Given the description of an element on the screen output the (x, y) to click on. 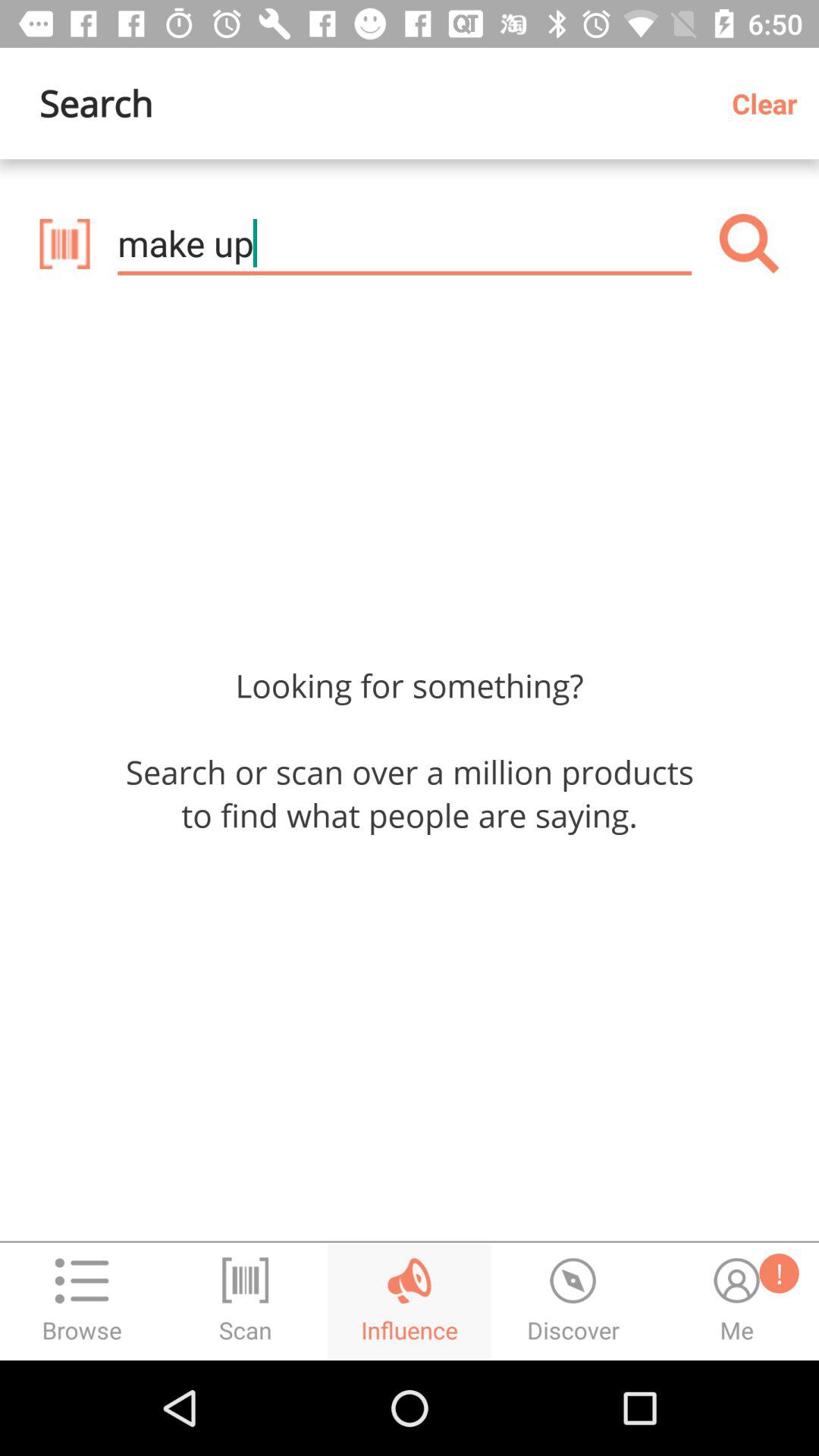
select icon below search icon (64, 243)
